Given the description of an element on the screen output the (x, y) to click on. 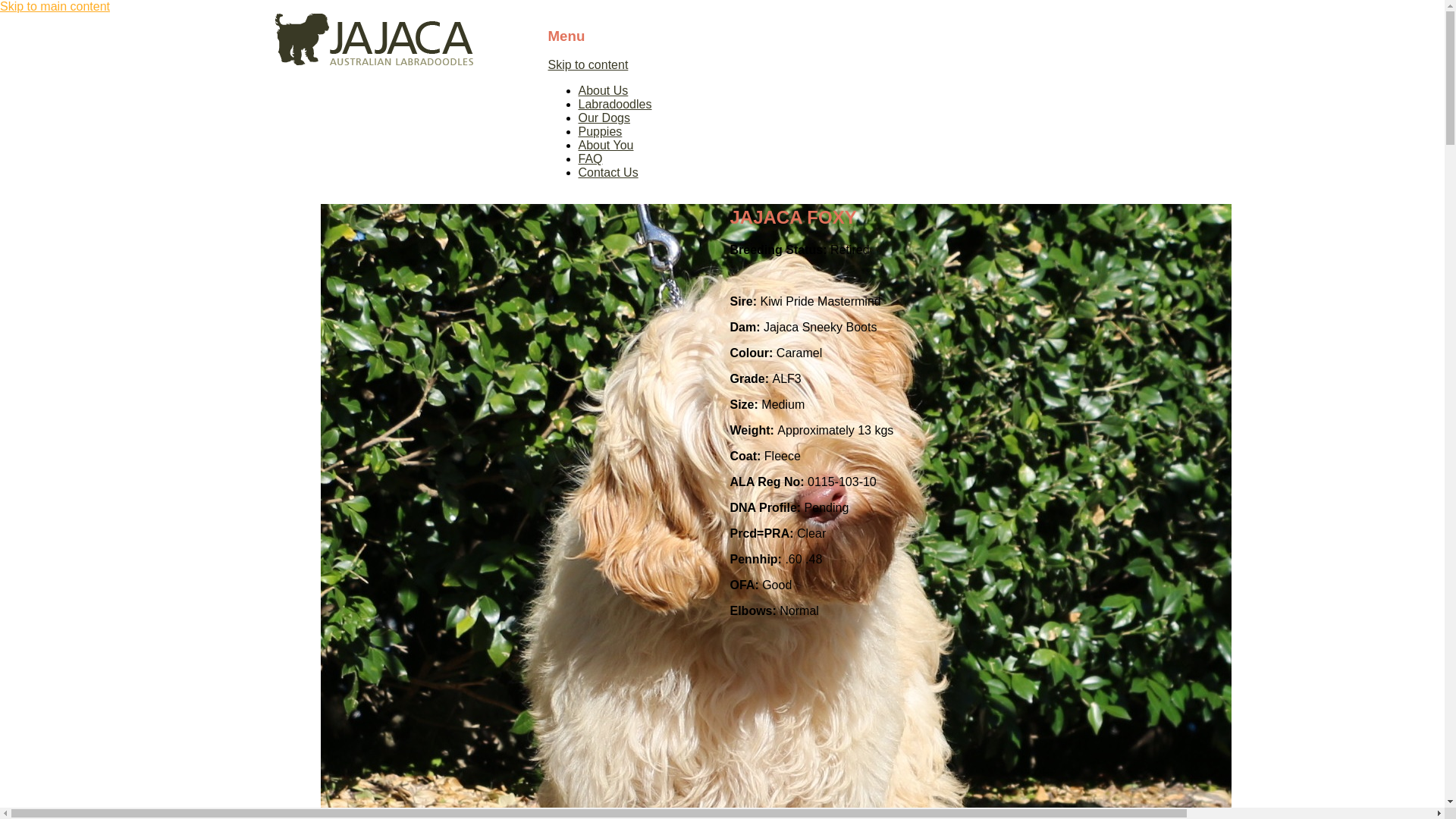
Our Dogs Element type: text (603, 117)
Contact Us Element type: text (607, 172)
Skip to main content Element type: text (54, 6)
Skip to content Element type: text (587, 64)
About You Element type: text (605, 144)
Labradoodles Element type: text (614, 103)
FAQ Element type: text (589, 158)
Puppies Element type: text (599, 131)
About Us Element type: text (602, 90)
